Given the description of an element on the screen output the (x, y) to click on. 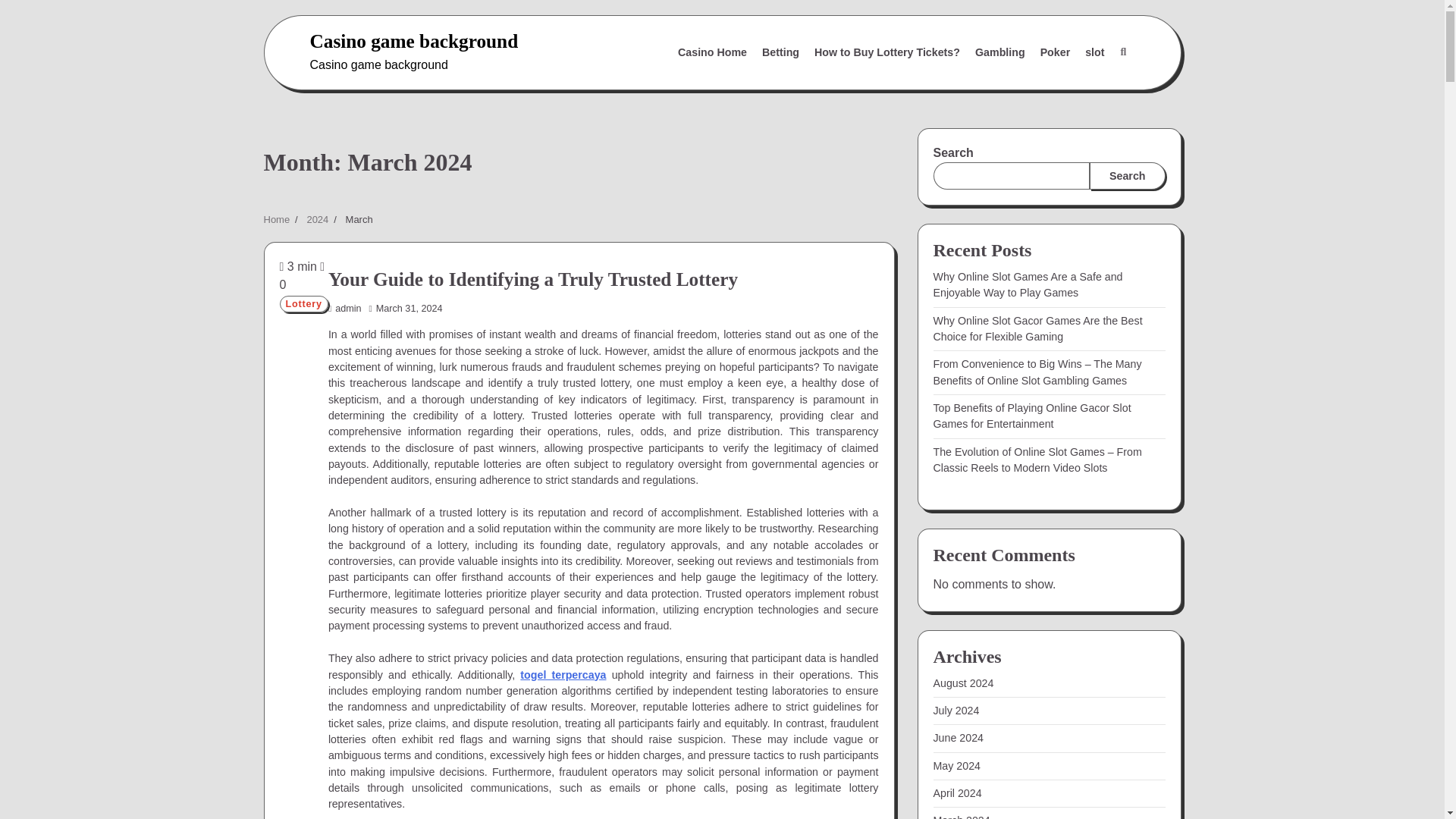
slot (1094, 51)
2024 (317, 219)
Search (1123, 51)
Betting (780, 51)
Poker (1055, 51)
Lottery (303, 303)
Your Guide to Identifying a Truly Trusted Lottery (533, 278)
Casino Home (711, 51)
Casino game background (413, 40)
How to Buy Lottery Tickets? (887, 51)
